Given the description of an element on the screen output the (x, y) to click on. 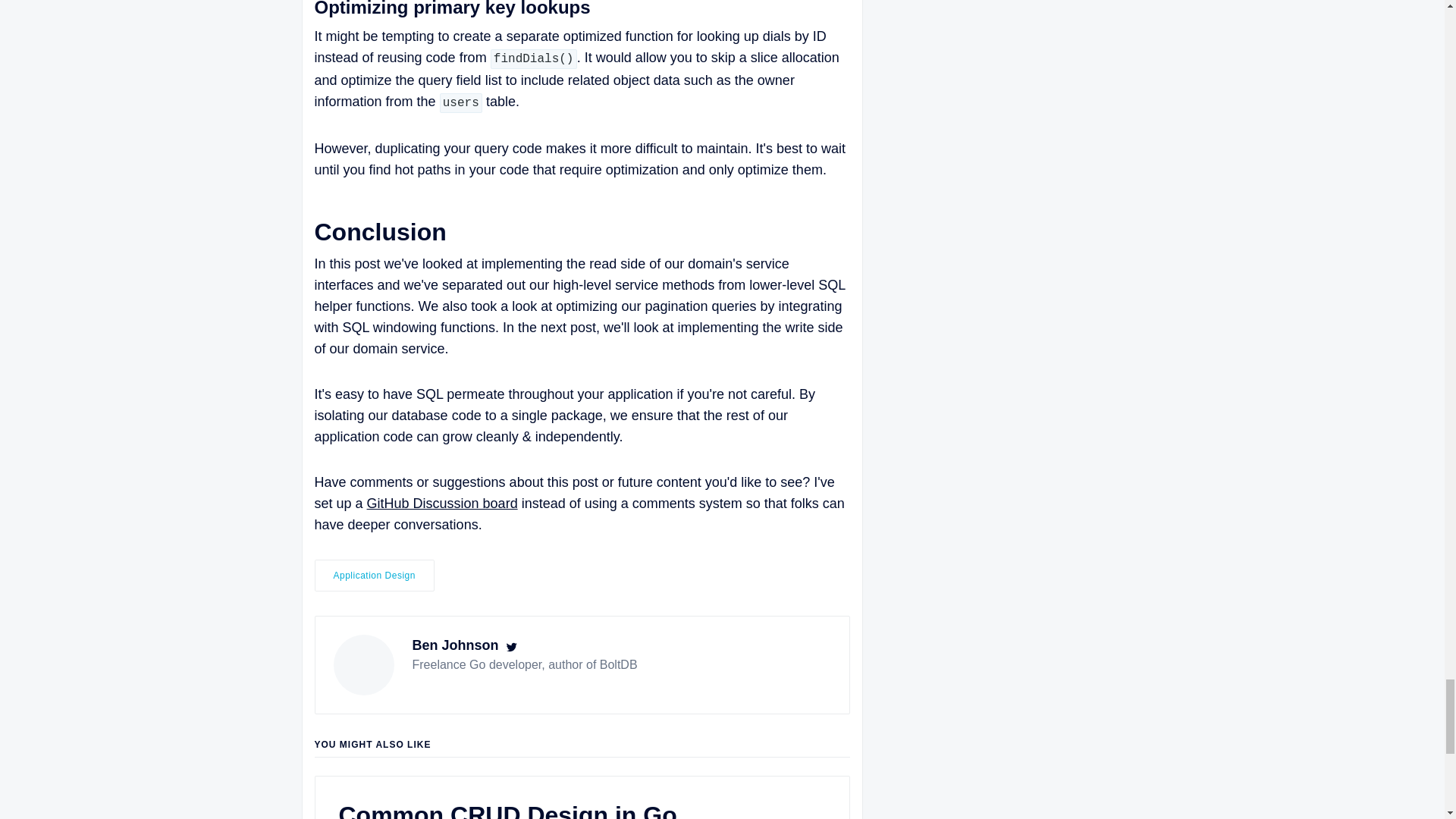
Ben Johnson (455, 645)
Common CRUD Design in Go (507, 810)
GitHub Discussion board (442, 503)
Application Design (373, 575)
